Given the description of an element on the screen output the (x, y) to click on. 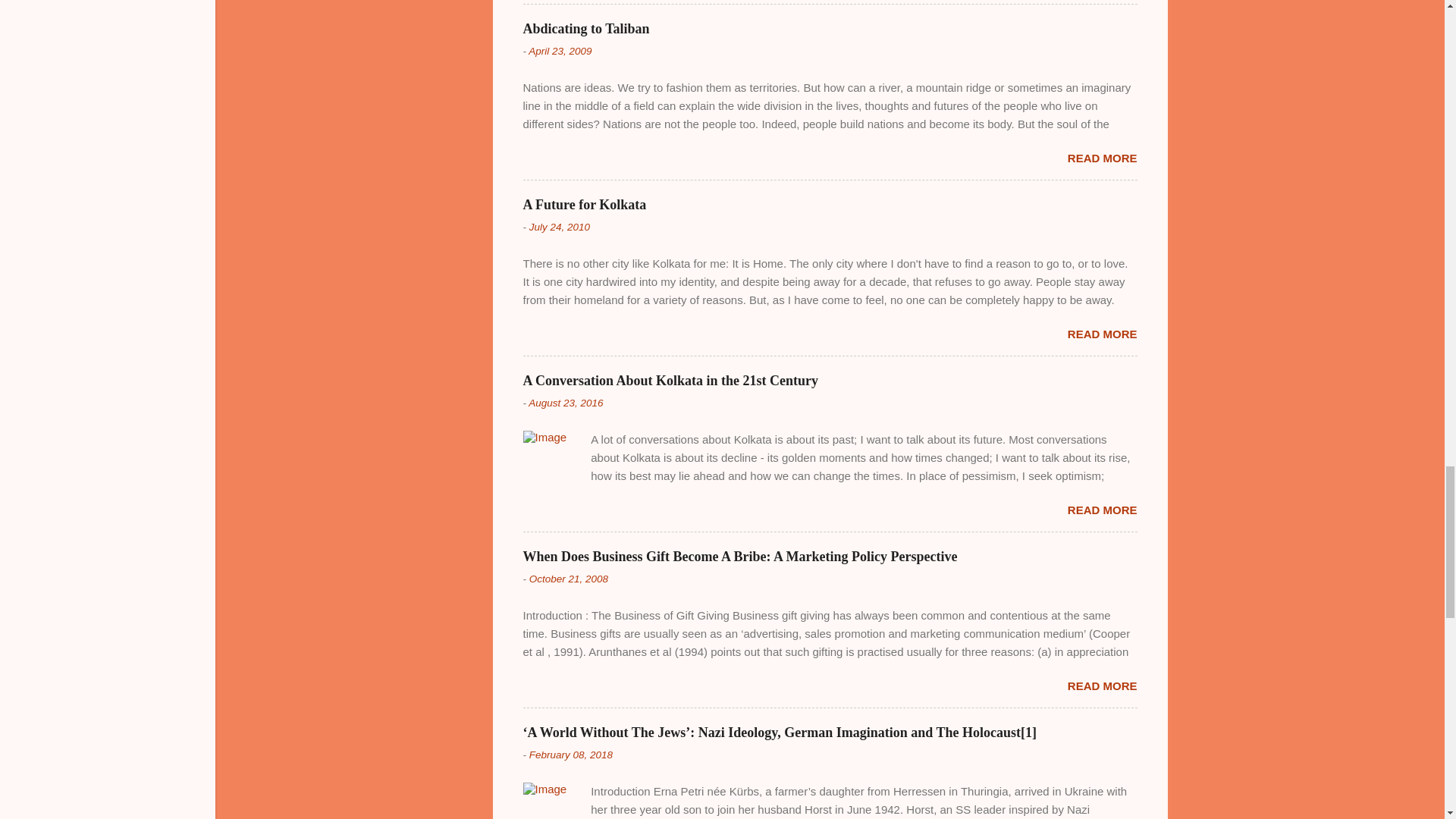
August 23, 2016 (565, 402)
READ MORE (1102, 157)
July 24, 2010 (559, 226)
October 21, 2008 (568, 578)
READ MORE (1102, 333)
READ MORE (1102, 685)
April 23, 2009 (559, 50)
READ MORE (1102, 509)
Abdicating to Taliban (585, 28)
